Given the description of an element on the screen output the (x, y) to click on. 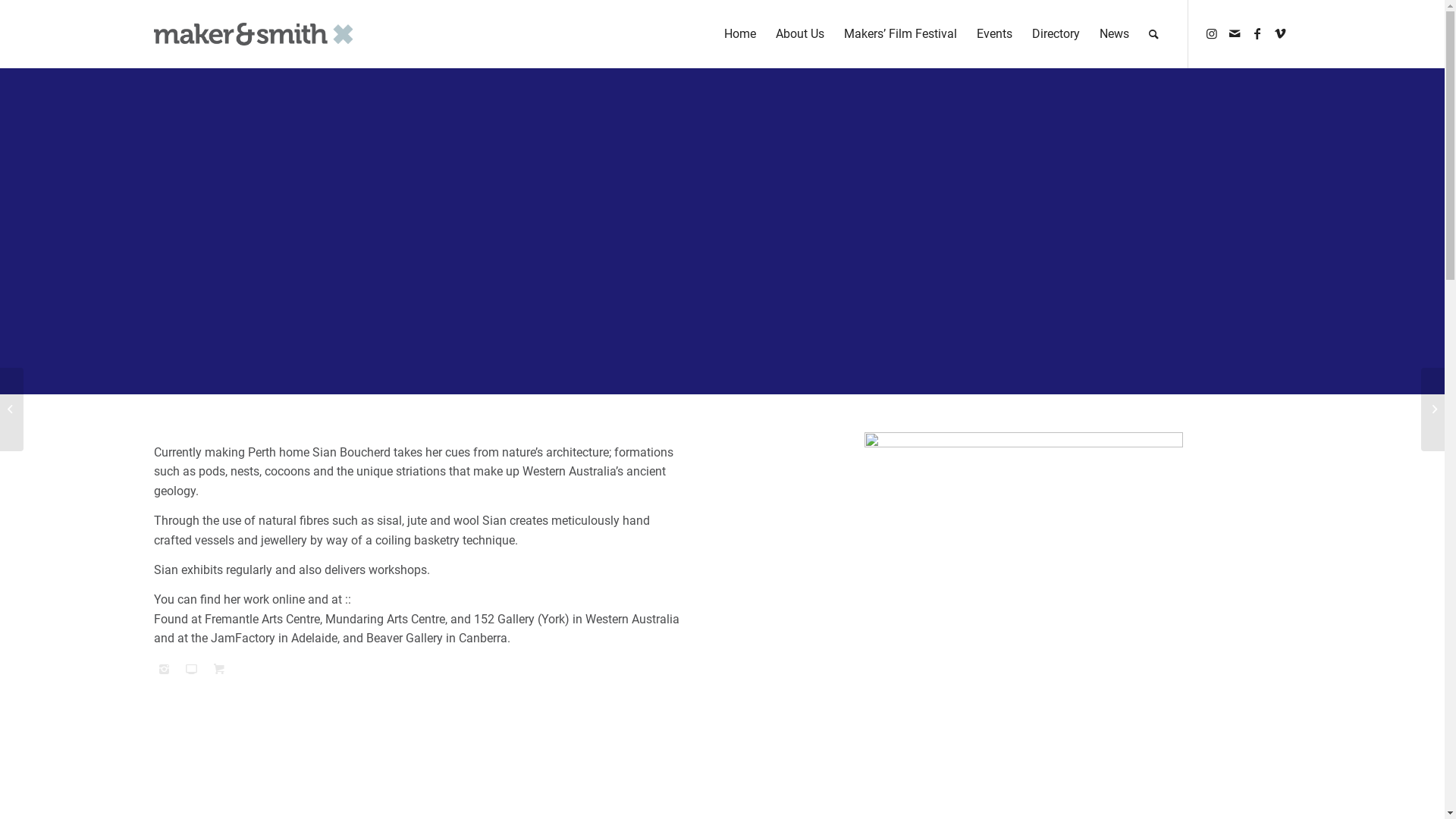
Events Element type: text (993, 34)
News Element type: text (1113, 34)
Directory Element type: text (1055, 34)
About Us Element type: text (799, 34)
Mail Element type: hover (1233, 32)
Vimeo Element type: hover (1278, 32)
Facebook Element type: hover (1256, 32)
Maker & Smith Element type: hover (254, 34)
Home Element type: text (739, 34)
Instagram Element type: hover (1210, 32)
